Given the description of an element on the screen output the (x, y) to click on. 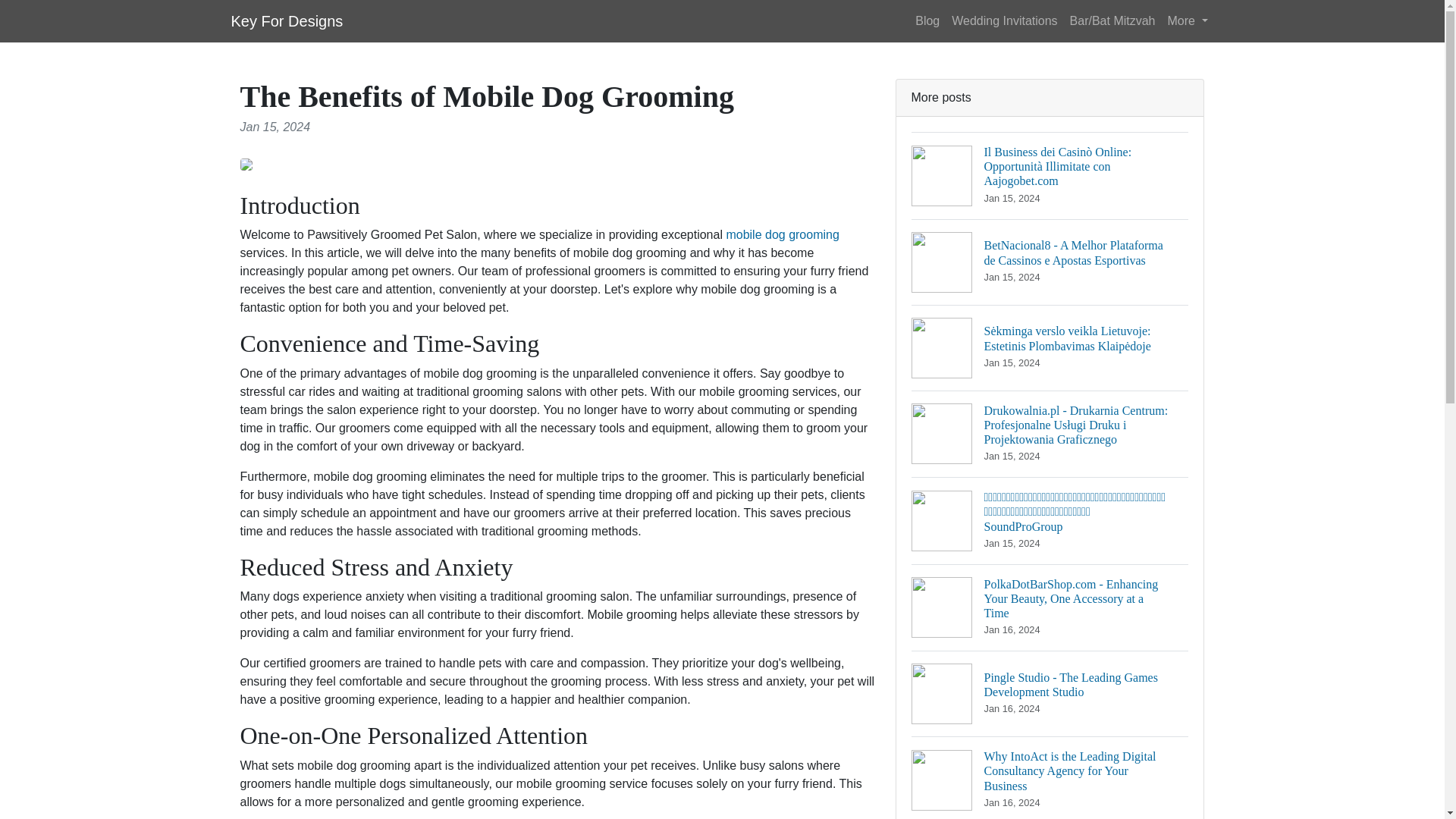
Wedding Invitations (1003, 20)
Blog (926, 20)
Key For Designs (286, 20)
More (1187, 20)
mobile dog grooming (781, 234)
